Given the description of an element on the screen output the (x, y) to click on. 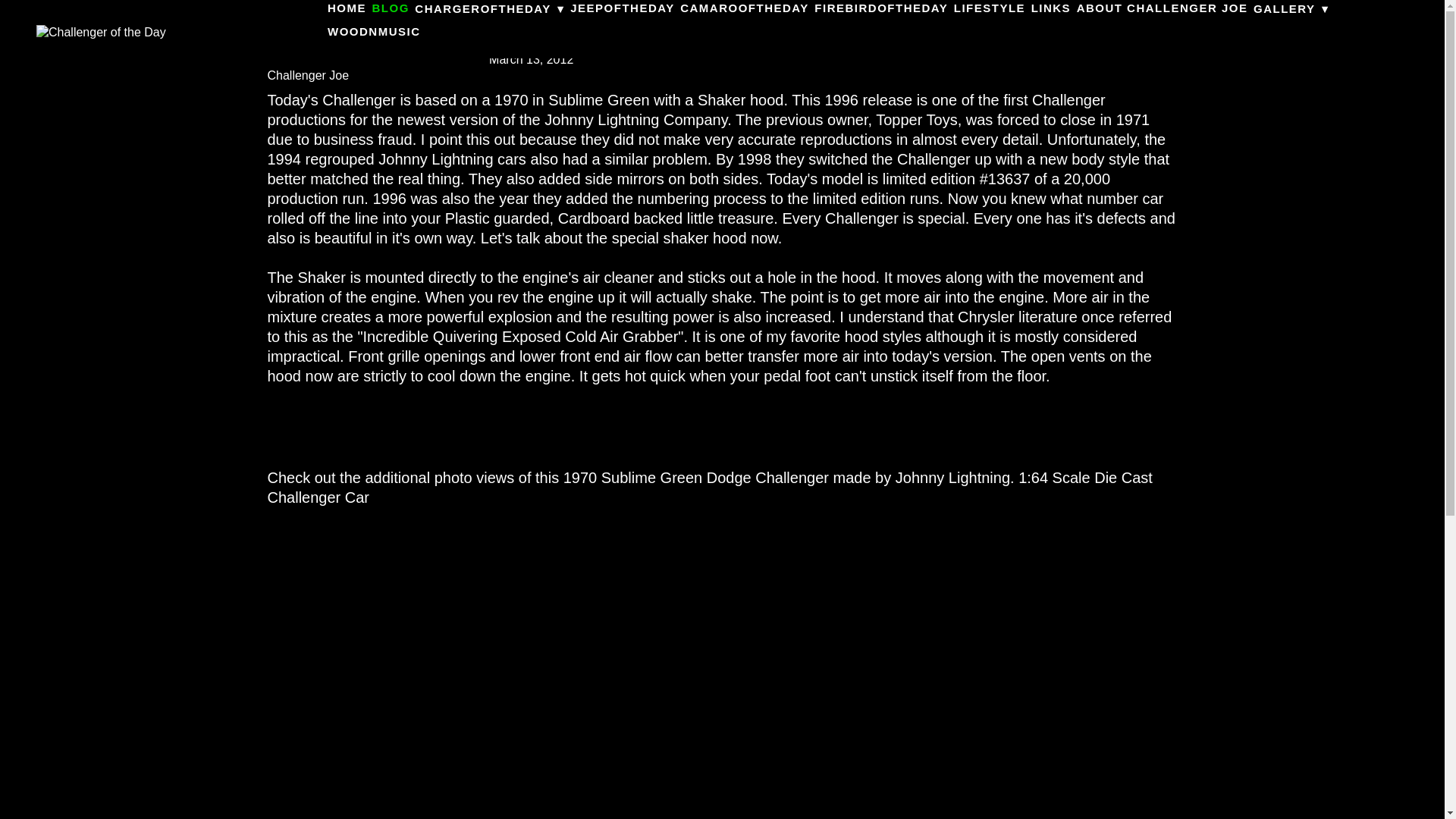
LIFESTYLE (989, 8)
WOODNMUSIC (373, 31)
ABOUT CHALLENGER JOE (1162, 8)
JEEPOFTHEDAY (622, 8)
CAMAROOFTHEDAY (744, 8)
HOME (346, 8)
LINKS (1050, 8)
FIREBIRDOFTHEDAY (880, 8)
BLOG (390, 8)
